Given the description of an element on the screen output the (x, y) to click on. 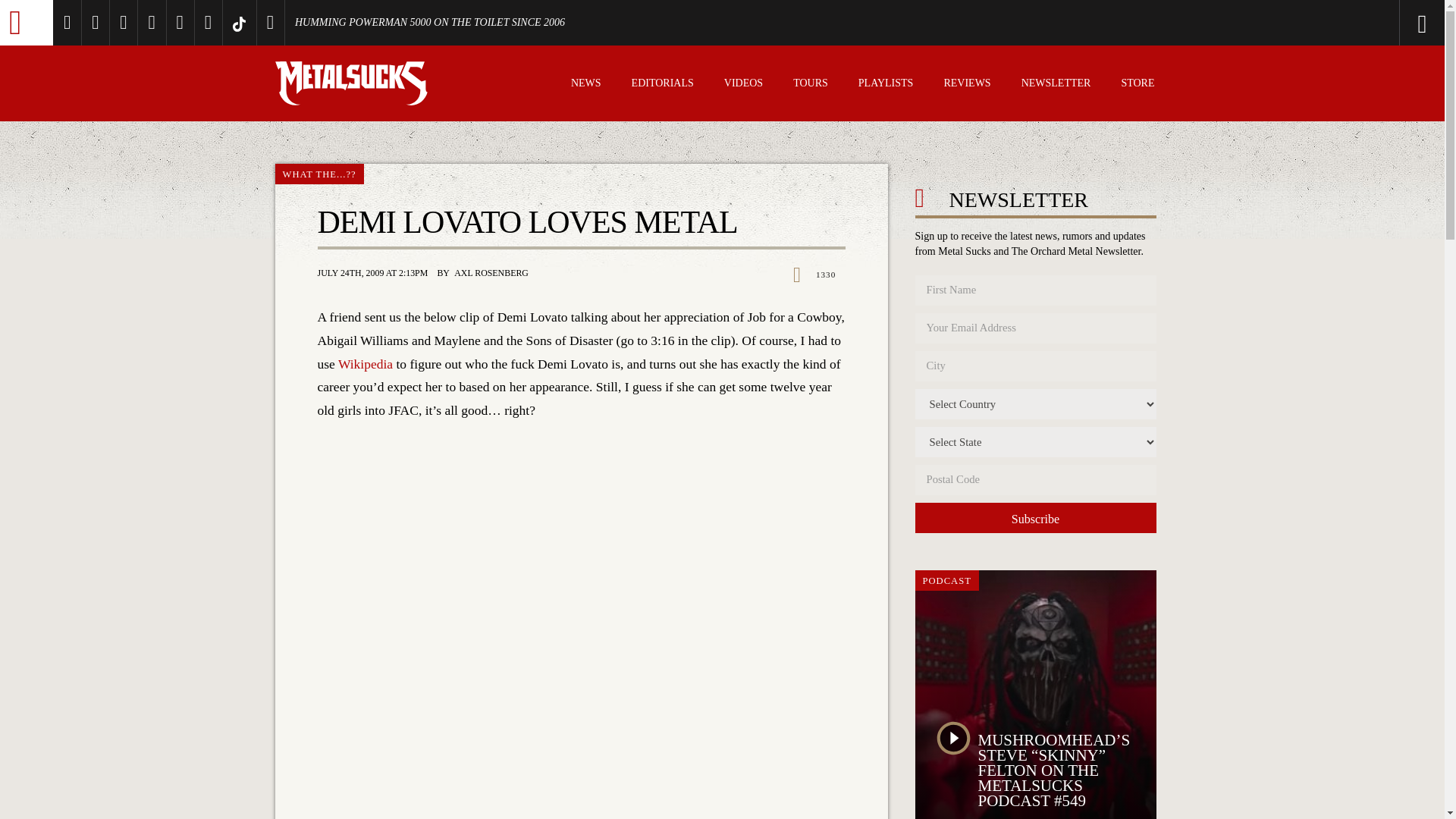
STORE (1137, 84)
PLAYLISTS (886, 84)
NEWSLETTER (1056, 84)
REVIEWS (966, 84)
WHAT THE...?? (318, 173)
TOURS (810, 84)
Metal Sucks (26, 22)
VIDEOS (742, 84)
NEWS (585, 84)
EDITORIALS (662, 84)
Search (1361, 22)
Subscribe (1035, 517)
